Given the description of an element on the screen output the (x, y) to click on. 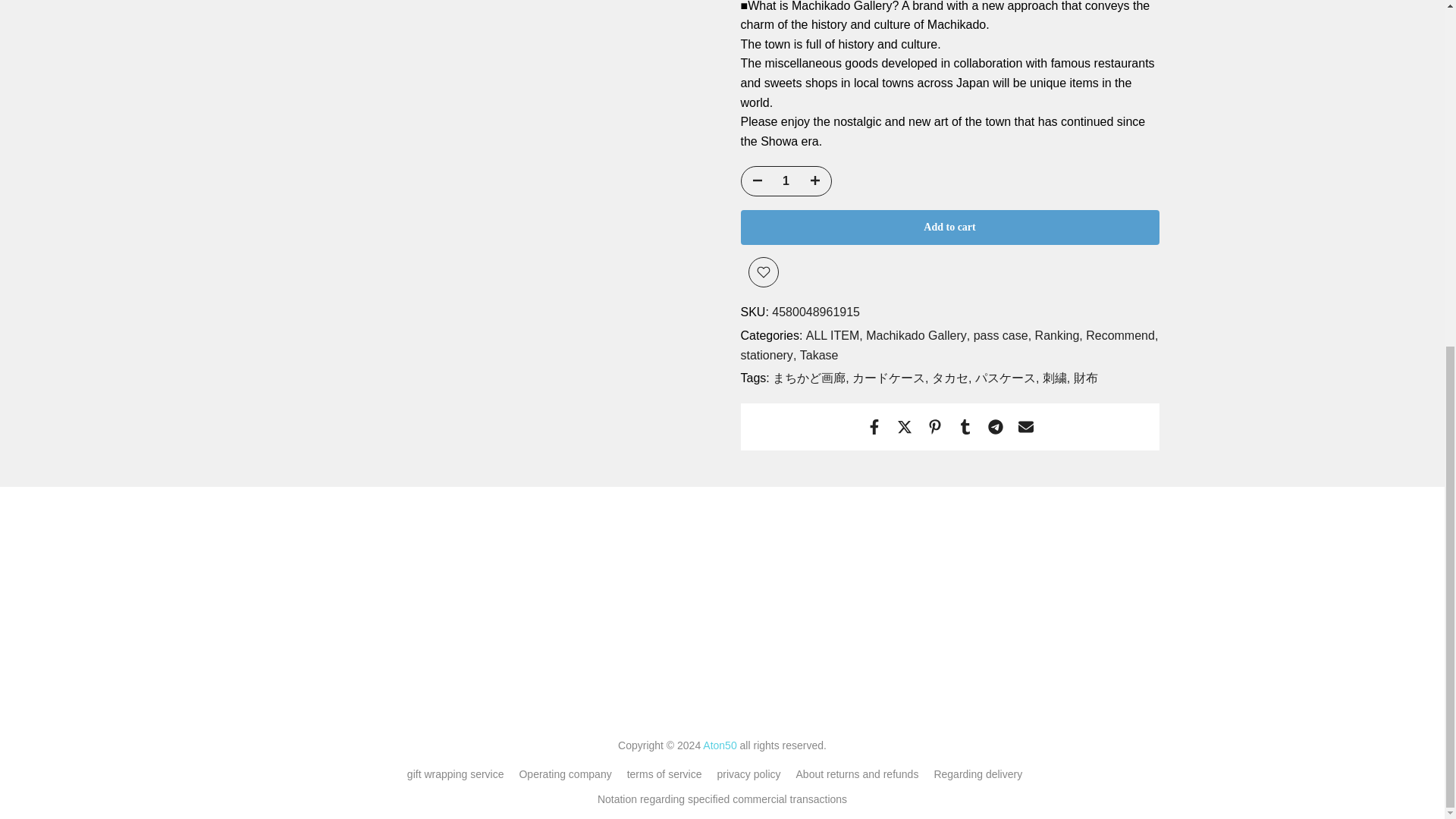
pass case (1003, 335)
Ranking (1059, 335)
Add to cart (948, 226)
Machikado Gallery (917, 335)
stationery (767, 355)
ALL ITEM (834, 335)
Recommend (1121, 335)
Takase (818, 355)
1 (786, 181)
